Given the description of an element on the screen output the (x, y) to click on. 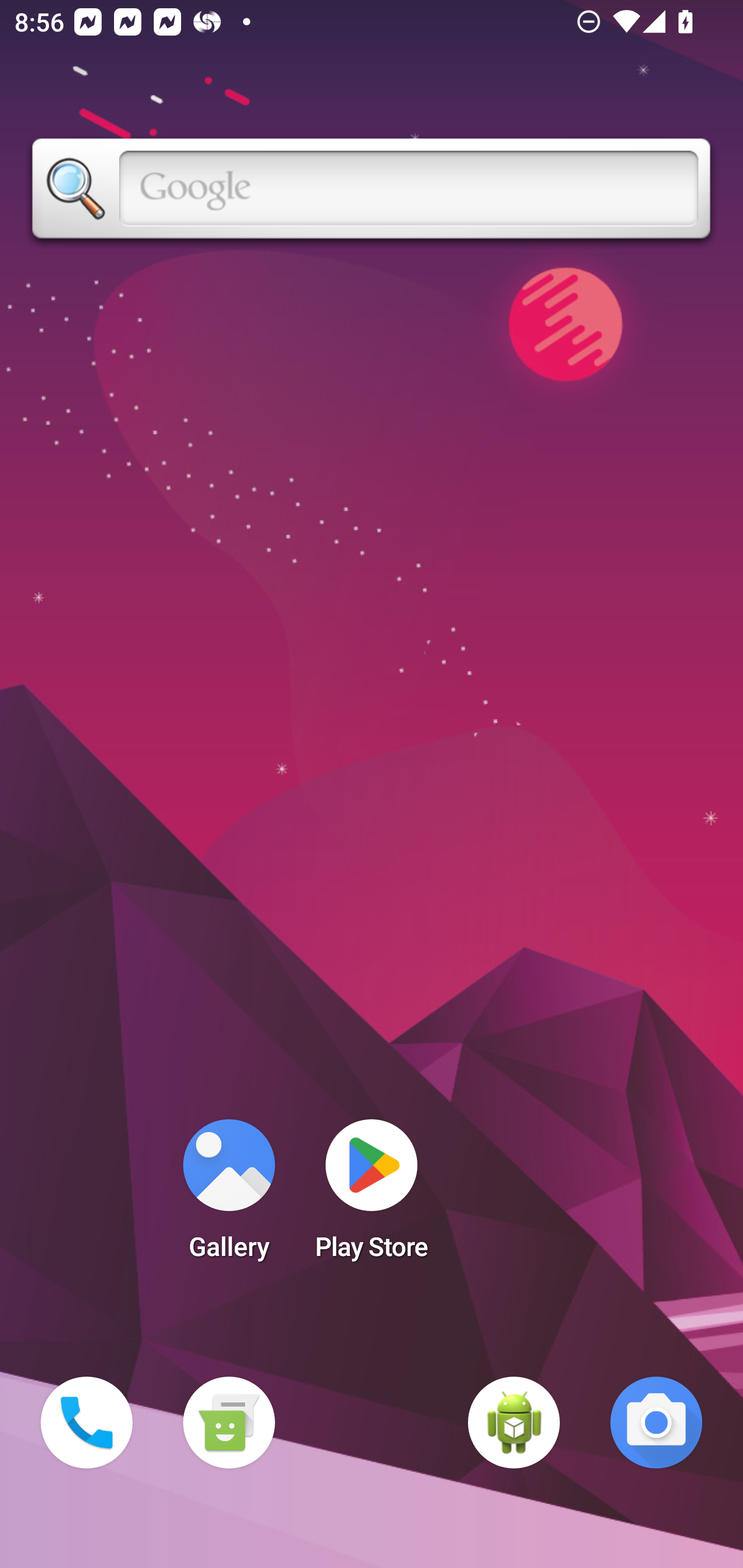
Gallery (228, 1195)
Play Store (371, 1195)
Phone (86, 1422)
Messaging (228, 1422)
WebView Browser Tester (513, 1422)
Camera (656, 1422)
